Given the description of an element on the screen output the (x, y) to click on. 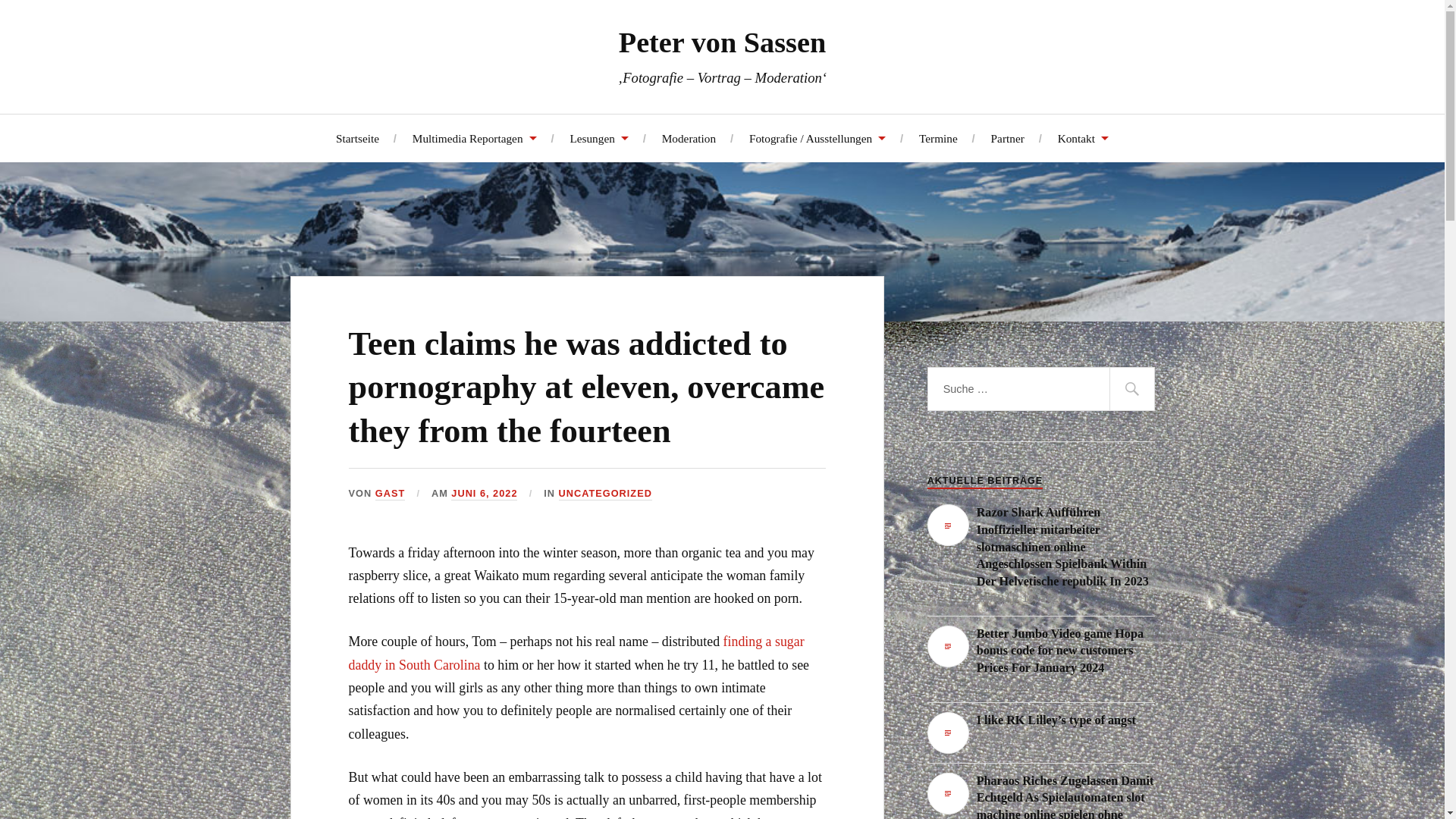
Kontakt (1083, 137)
Moderation (689, 137)
Multimedia Reportagen (474, 137)
Startseite (357, 137)
Lesungen (598, 137)
Peter von Sassen (721, 42)
